Given the description of an element on the screen output the (x, y) to click on. 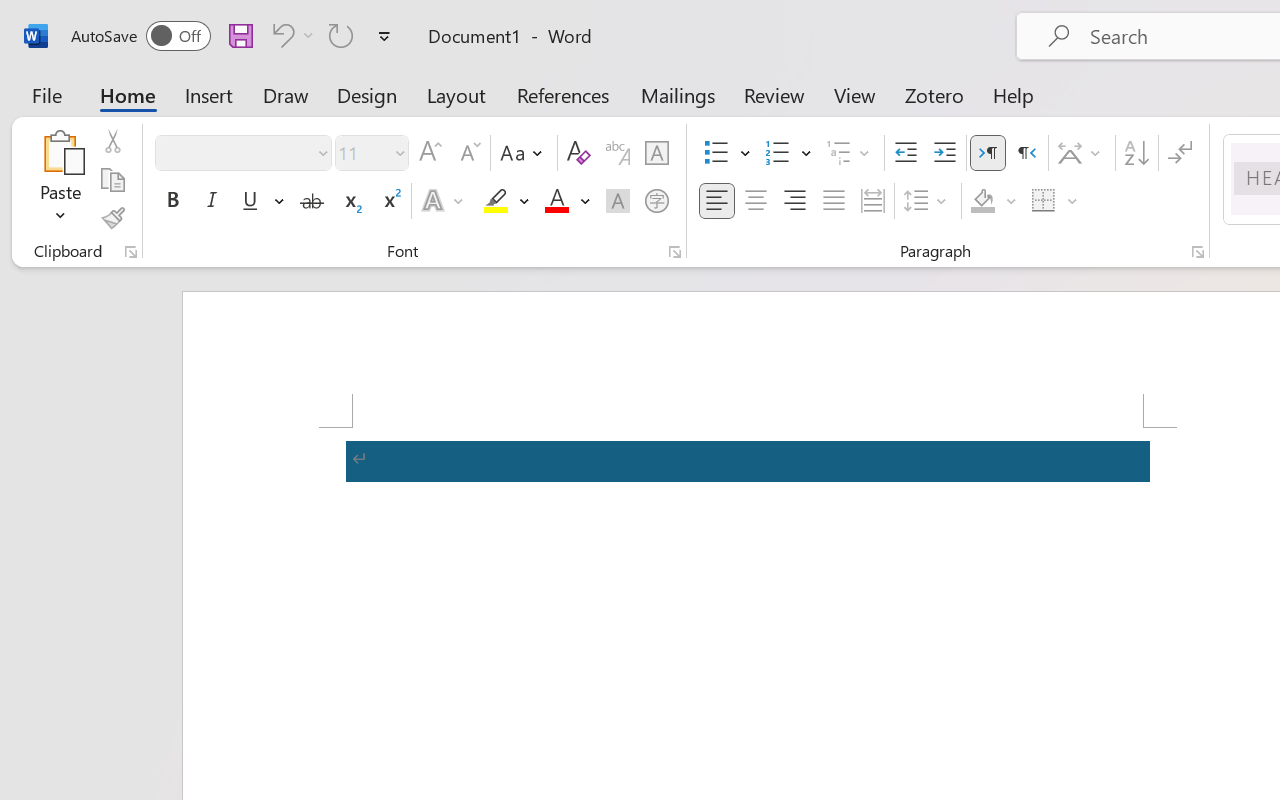
Left-to-Right (988, 153)
